Given the description of an element on the screen output the (x, y) to click on. 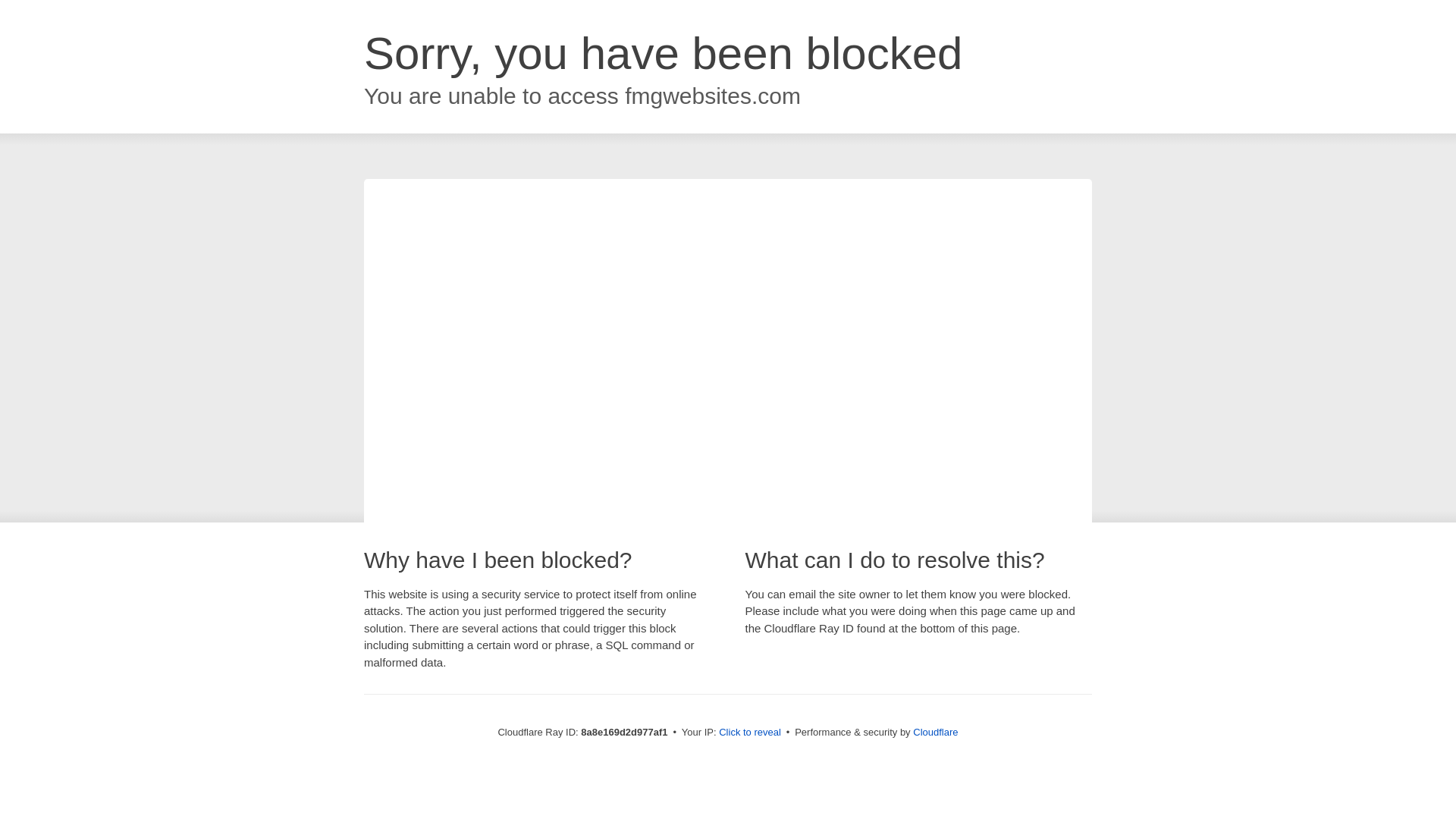
Click to reveal (749, 732)
Cloudflare (935, 731)
